Given the description of an element on the screen output the (x, y) to click on. 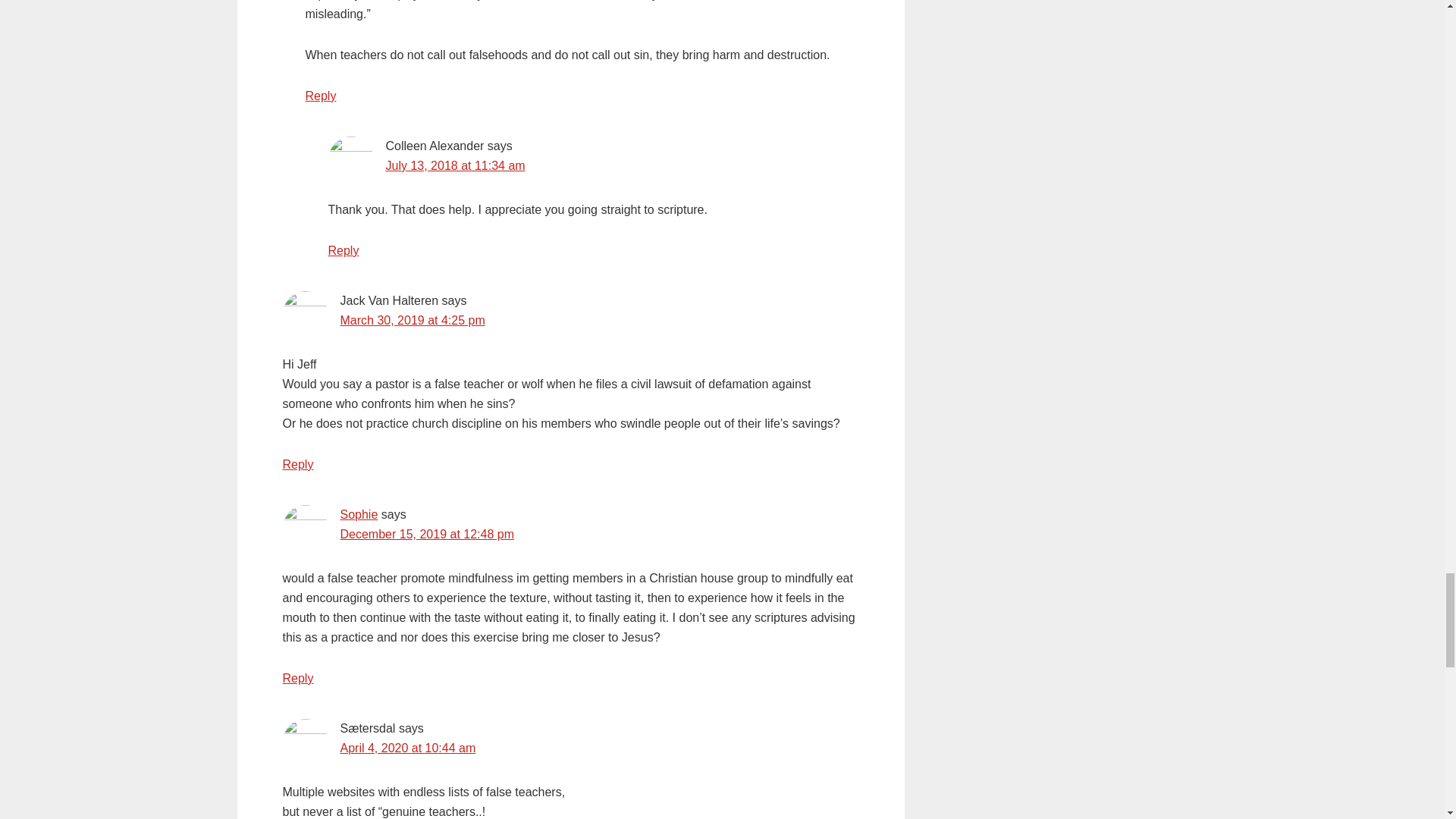
Reply (297, 463)
December 15, 2019 at 12:48 pm (426, 533)
Reply (342, 250)
March 30, 2019 at 4:25 pm (411, 319)
Reply (320, 95)
Sophie (358, 513)
April 4, 2020 at 10:44 am (407, 748)
Reply (297, 677)
July 13, 2018 at 11:34 am (454, 164)
